Given the description of an element on the screen output the (x, y) to click on. 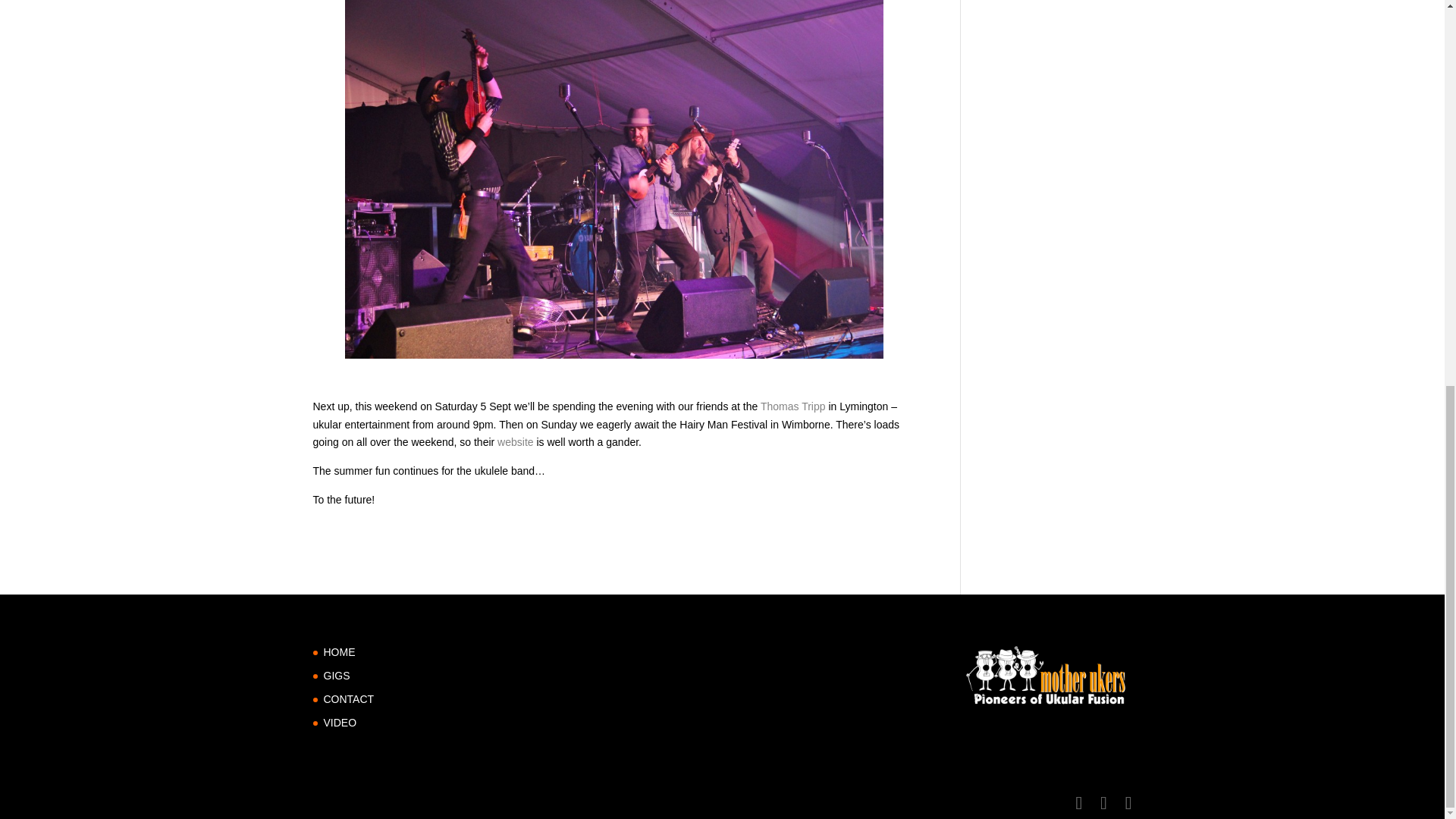
GIGS (336, 675)
HOME (339, 652)
website (514, 441)
Thomas Tripp (792, 406)
CONTACT (348, 698)
VIDEO (339, 722)
